Given the description of an element on the screen output the (x, y) to click on. 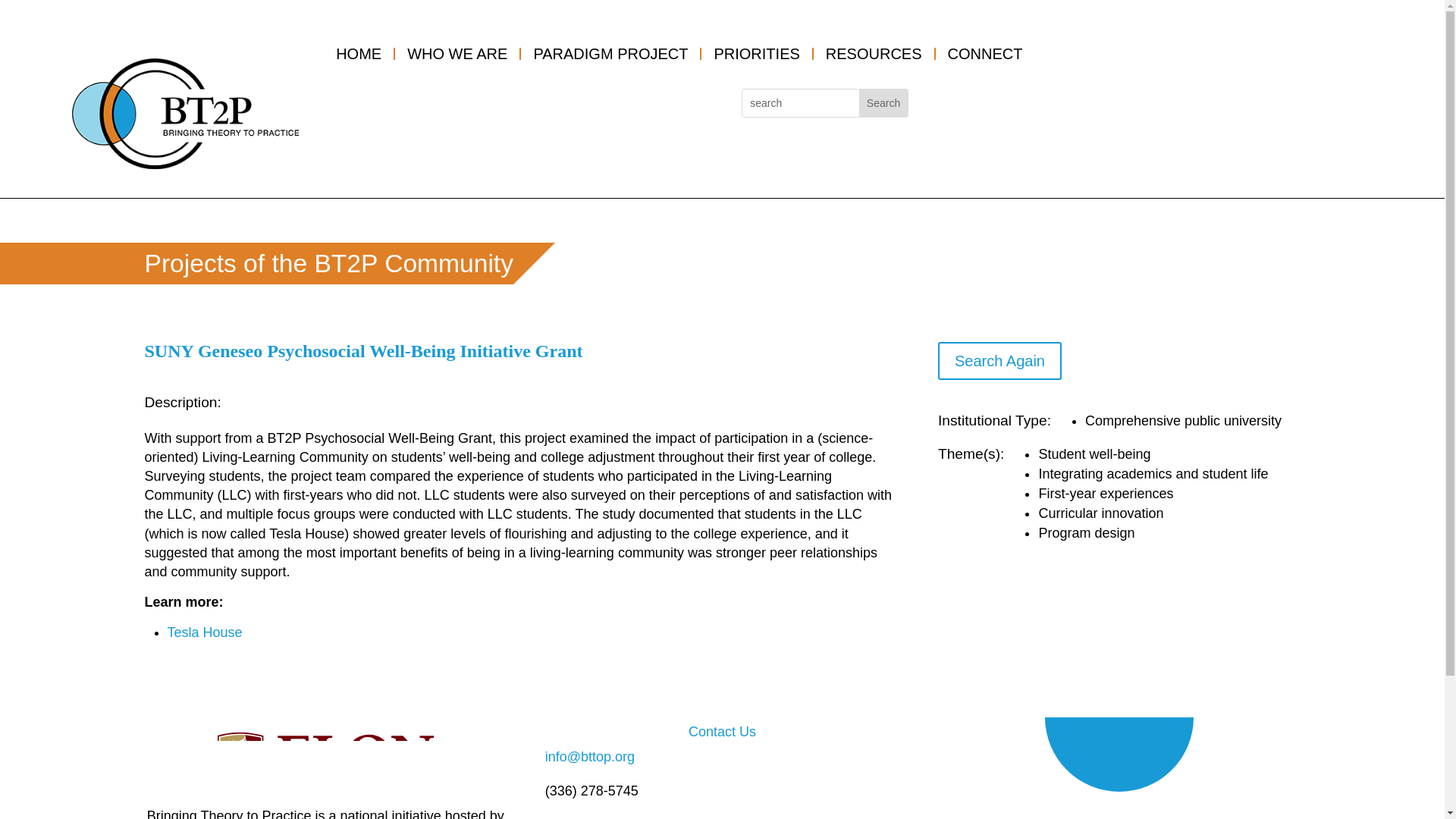
RESOURCES (874, 53)
HOME (358, 53)
CONNECT (985, 53)
BT2P-logo-png (184, 113)
Search (883, 103)
Search (883, 103)
PRIORITIES (756, 53)
Search (883, 103)
Tesla House (204, 631)
PARADIGM PROJECT (611, 53)
Search Again (999, 361)
WHO WE ARE (457, 53)
